Given the description of an element on the screen output the (x, y) to click on. 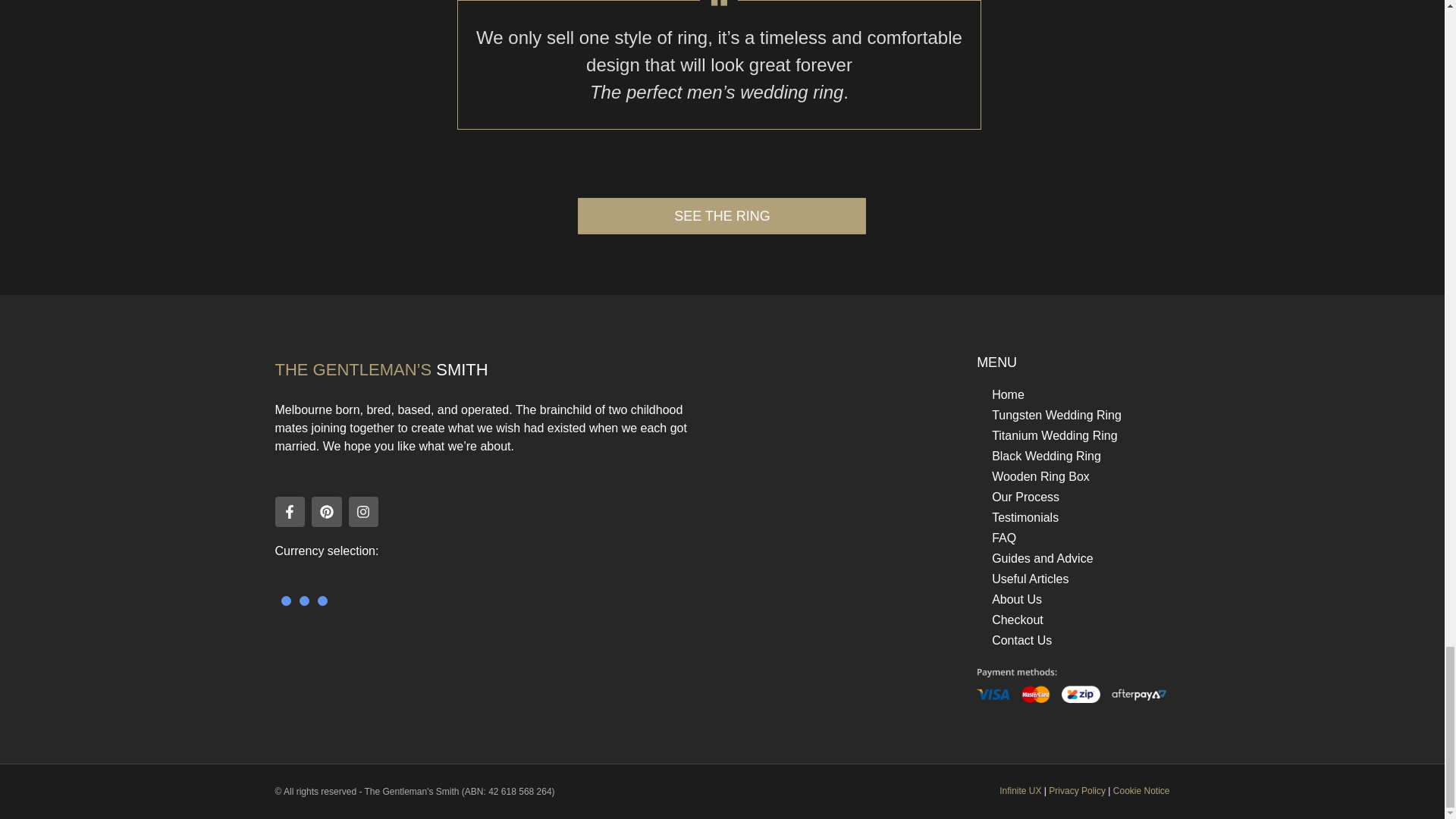
SEE THE RING (722, 216)
Wooden Ring Box (1071, 476)
Tungsten Wedding Ring (1071, 414)
Black Wedding Ring (1071, 455)
Testimonials (1071, 516)
Our Process (1071, 496)
Home (1071, 394)
Titanium Wedding Ring (1071, 435)
